Given the description of an element on the screen output the (x, y) to click on. 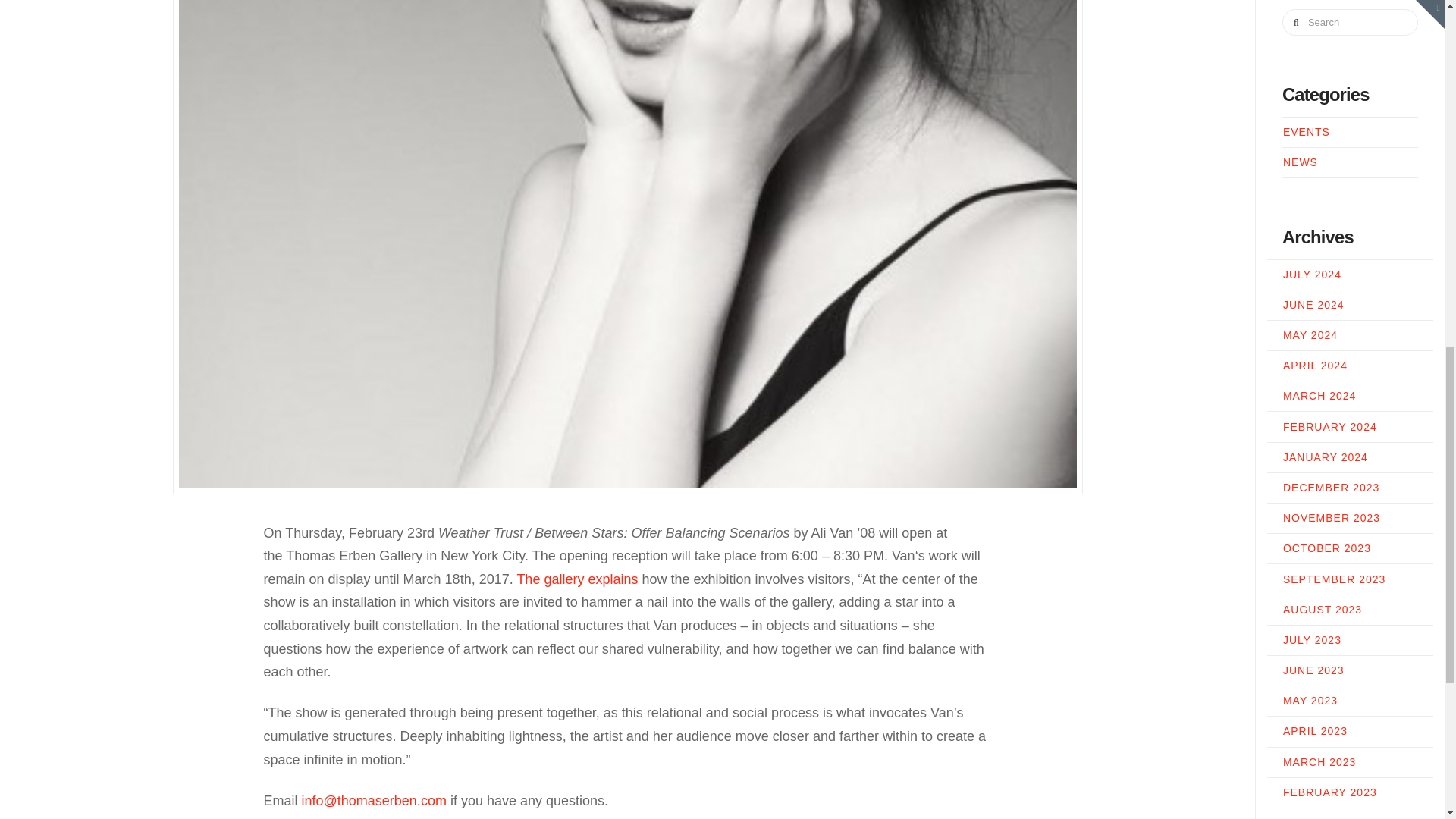
The gallery explains (576, 579)
JANUARY 2023 (1325, 4)
NOVEMBER 2022 (1331, 33)
OCTOBER 2022 (1326, 64)
